Given the description of an element on the screen output the (x, y) to click on. 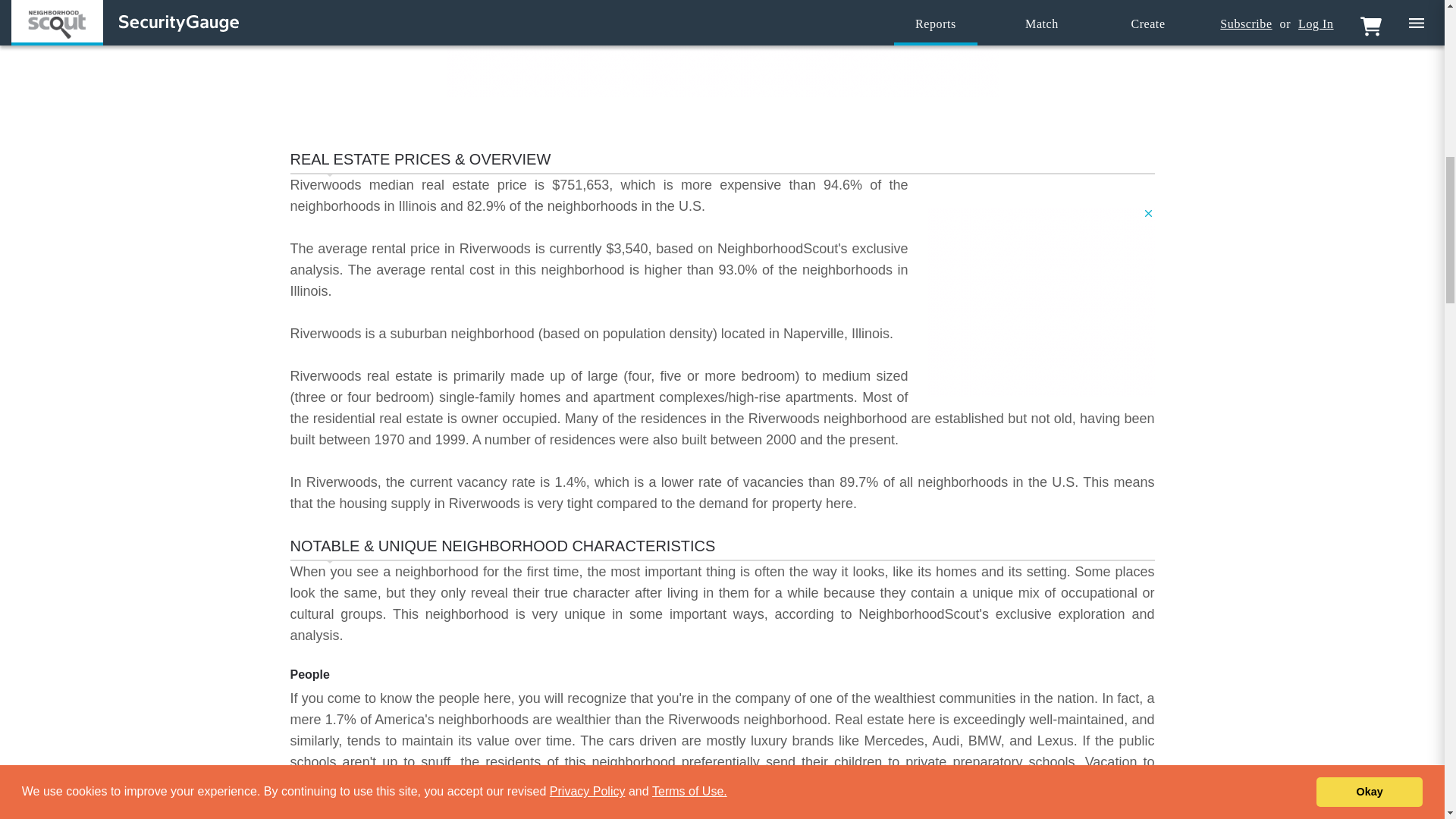
3rd party ad content (1040, 301)
3rd party ad content (721, 62)
